Given the description of an element on the screen output the (x, y) to click on. 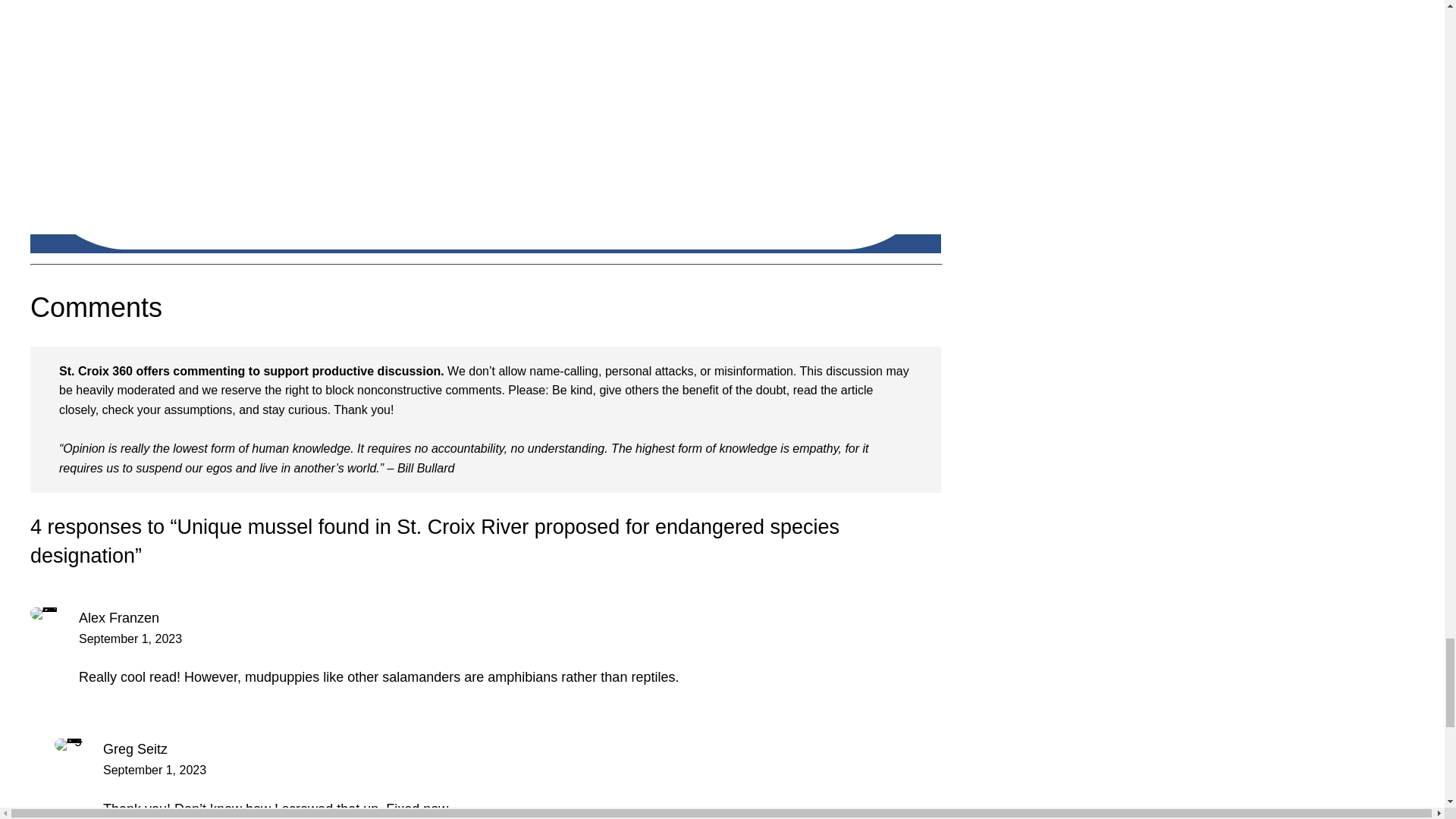
September 1, 2023 (130, 638)
September 1, 2023 (154, 769)
